Given the description of an element on the screen output the (x, y) to click on. 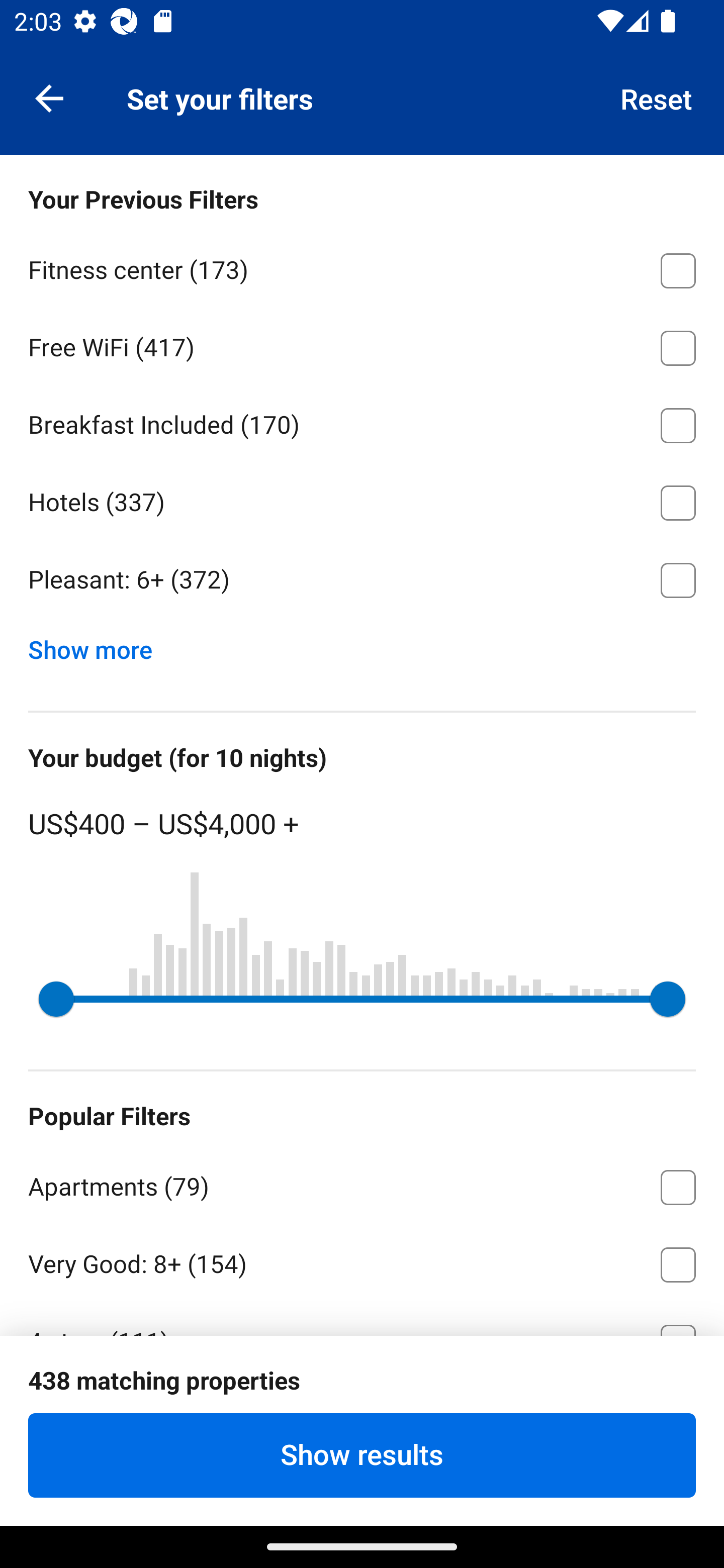
Navigate up (49, 97)
Reset (656, 97)
Fitness center ⁦(173) (361, 266)
Free WiFi ⁦(417) (361, 344)
Breakfast Included ⁦(170) (361, 422)
Hotels ⁦(337) (361, 498)
Pleasant: 6+ ⁦(372) (361, 579)
Show more (97, 645)
Apartments ⁦(79) (361, 1183)
Very Good: 8+ ⁦(154) (361, 1261)
Show results (361, 1454)
